Given the description of an element on the screen output the (x, y) to click on. 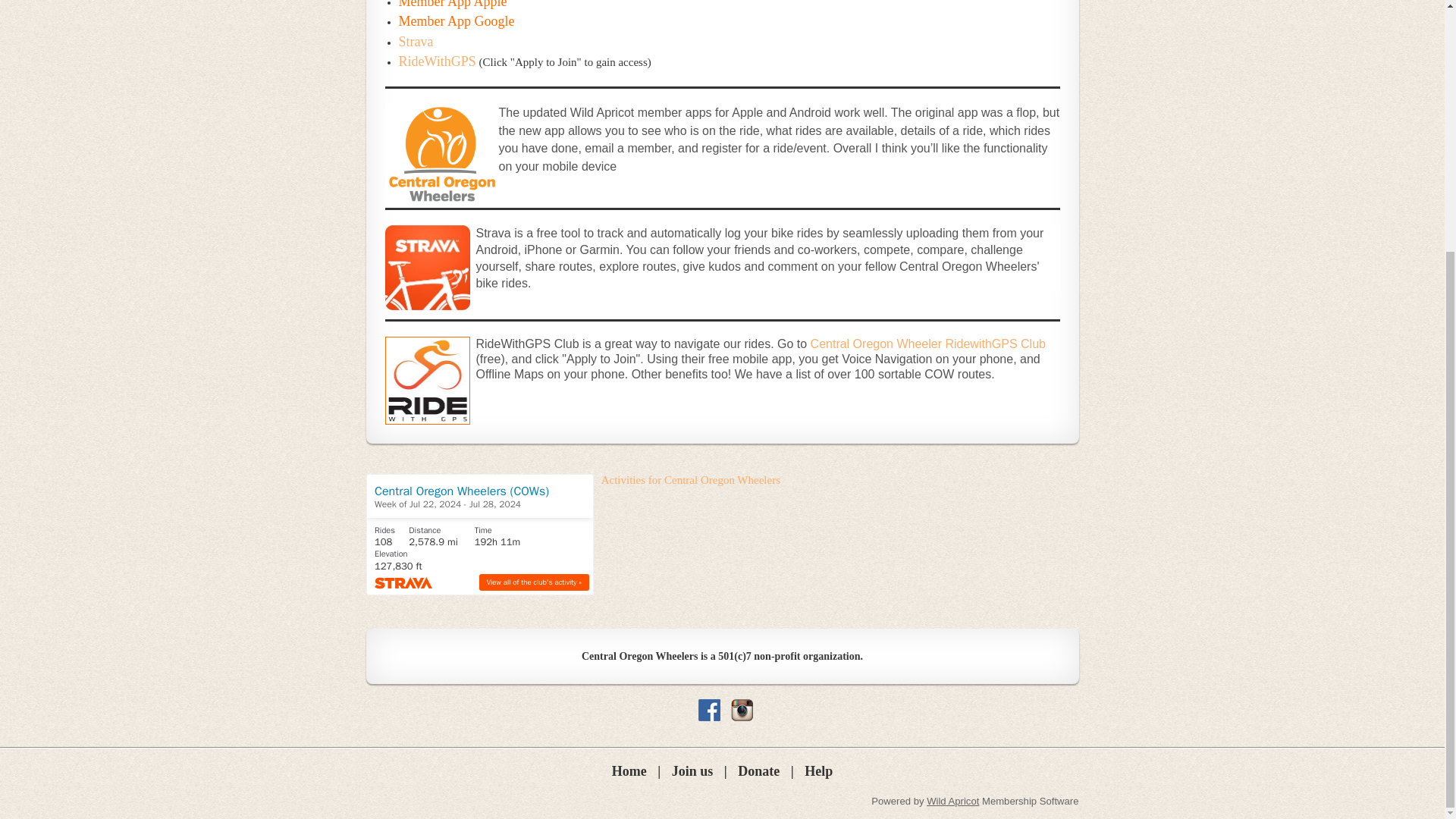
RideWithGPS (437, 61)
Activities for Central Oregon Wheelers (690, 480)
Strava (415, 42)
Member App Apple (452, 4)
Central Oregon Wheeler RidewithGPS Club (927, 343)
Member App Google (456, 21)
